Given the description of an element on the screen output the (x, y) to click on. 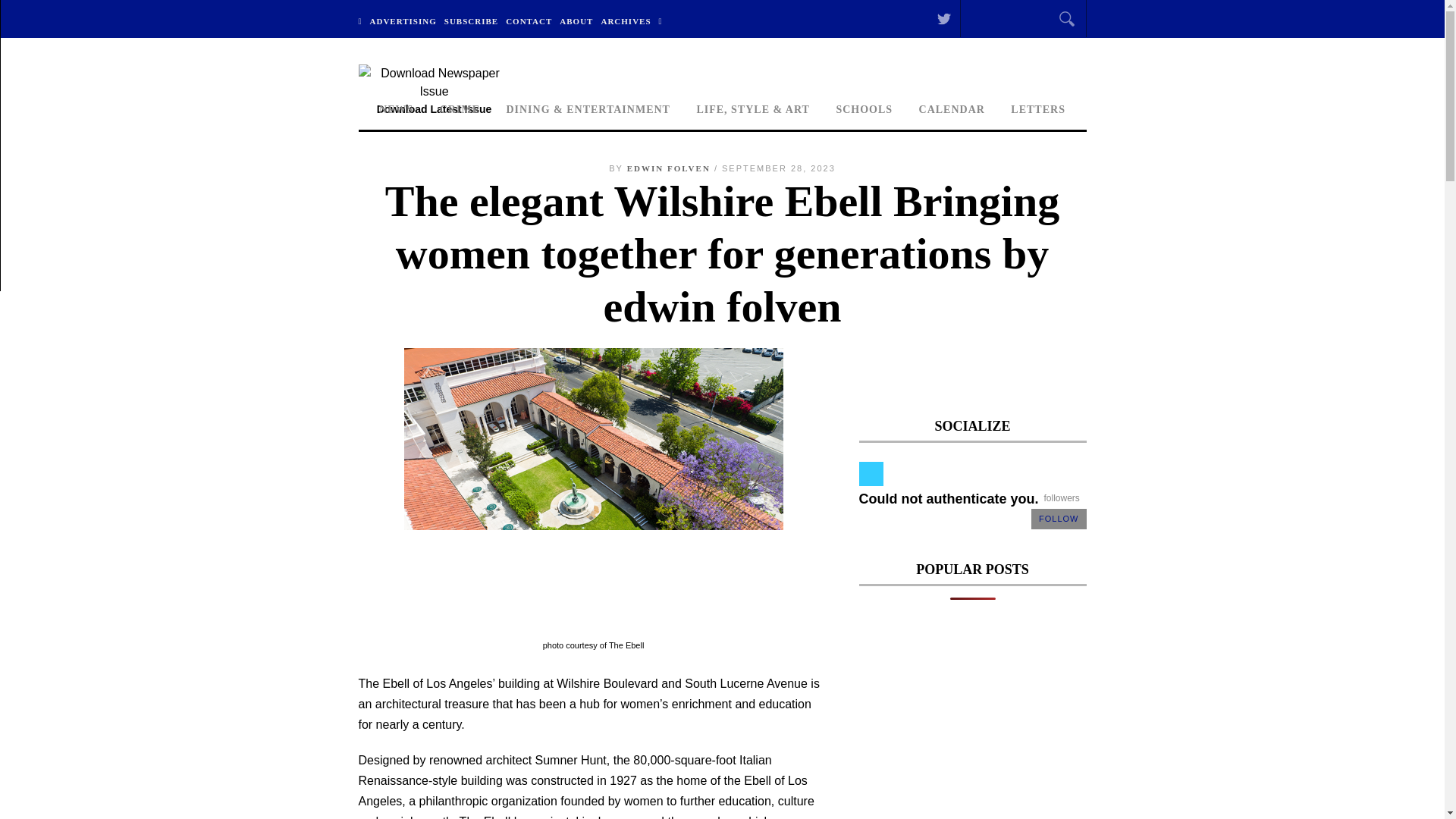
SCHOOLS (864, 110)
CONTACT (529, 19)
LETTERS (1037, 110)
ABOUT (576, 19)
SUBSCRIBE (471, 19)
Search... (1013, 22)
CRIME (460, 110)
Posts by Edwin Folven (668, 167)
NEWS (396, 110)
ARCHIVES (624, 19)
